Given the description of an element on the screen output the (x, y) to click on. 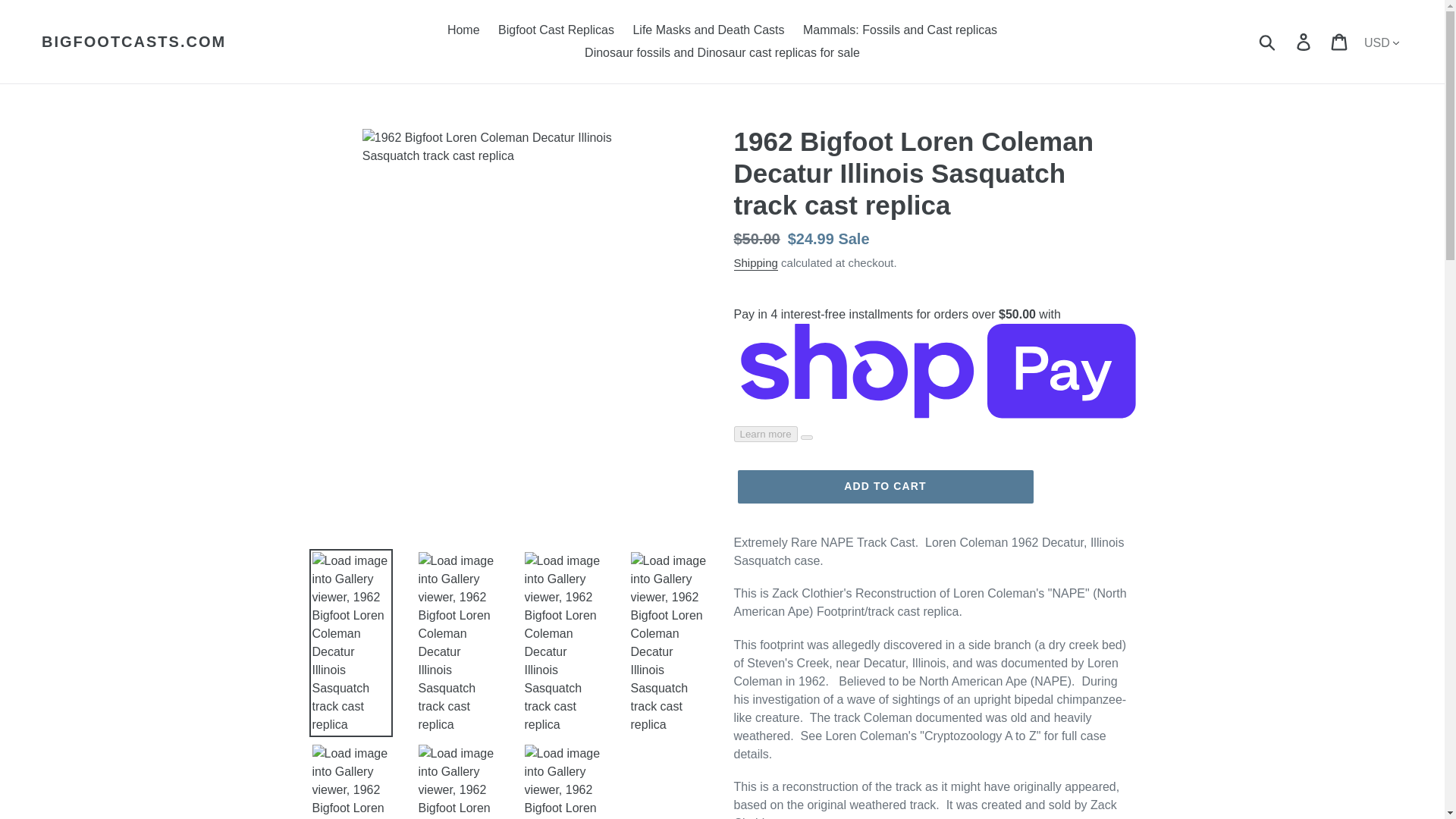
Shipping (755, 263)
ADD TO CART (884, 486)
Dinosaur fossils and Dinosaur cast replicas for sale (721, 52)
Bigfoot Cast Replicas (555, 29)
BIGFOOTCASTS.COM (133, 41)
Mammals: Fossils and Cast replicas (899, 29)
Log in (1304, 41)
Submit (1268, 41)
Life Masks and Death Casts (708, 29)
Home (463, 29)
